Given the description of an element on the screen output the (x, y) to click on. 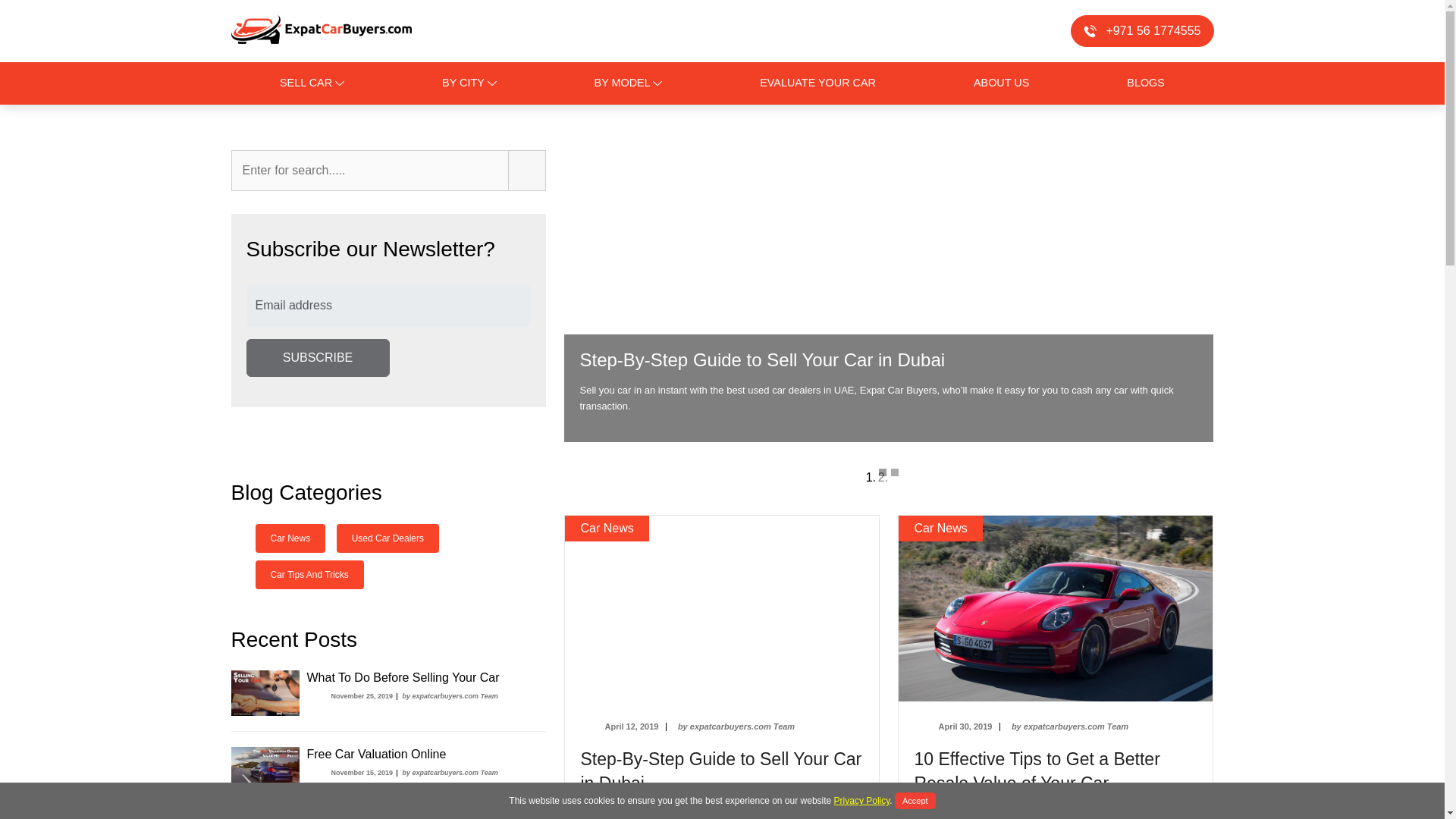
Used Car Dealers (387, 538)
SELL CAR (311, 82)
EVALUATE YOUR CAR (818, 82)
BY CITY (468, 82)
What To Do Before Selling Your Car (402, 676)
9 distractions to avoid when driving in the UAE (720, 771)
BLOGS (1145, 82)
Car News (289, 538)
Subscribe (317, 357)
Car Tips And Tricks (308, 574)
Free Car Valuation Online (375, 753)
9 distractions to avoid when driving in the UAE (1036, 771)
BY MODEL (628, 82)
Subscribe (317, 357)
ABOUT US (1001, 82)
